Given the description of an element on the screen output the (x, y) to click on. 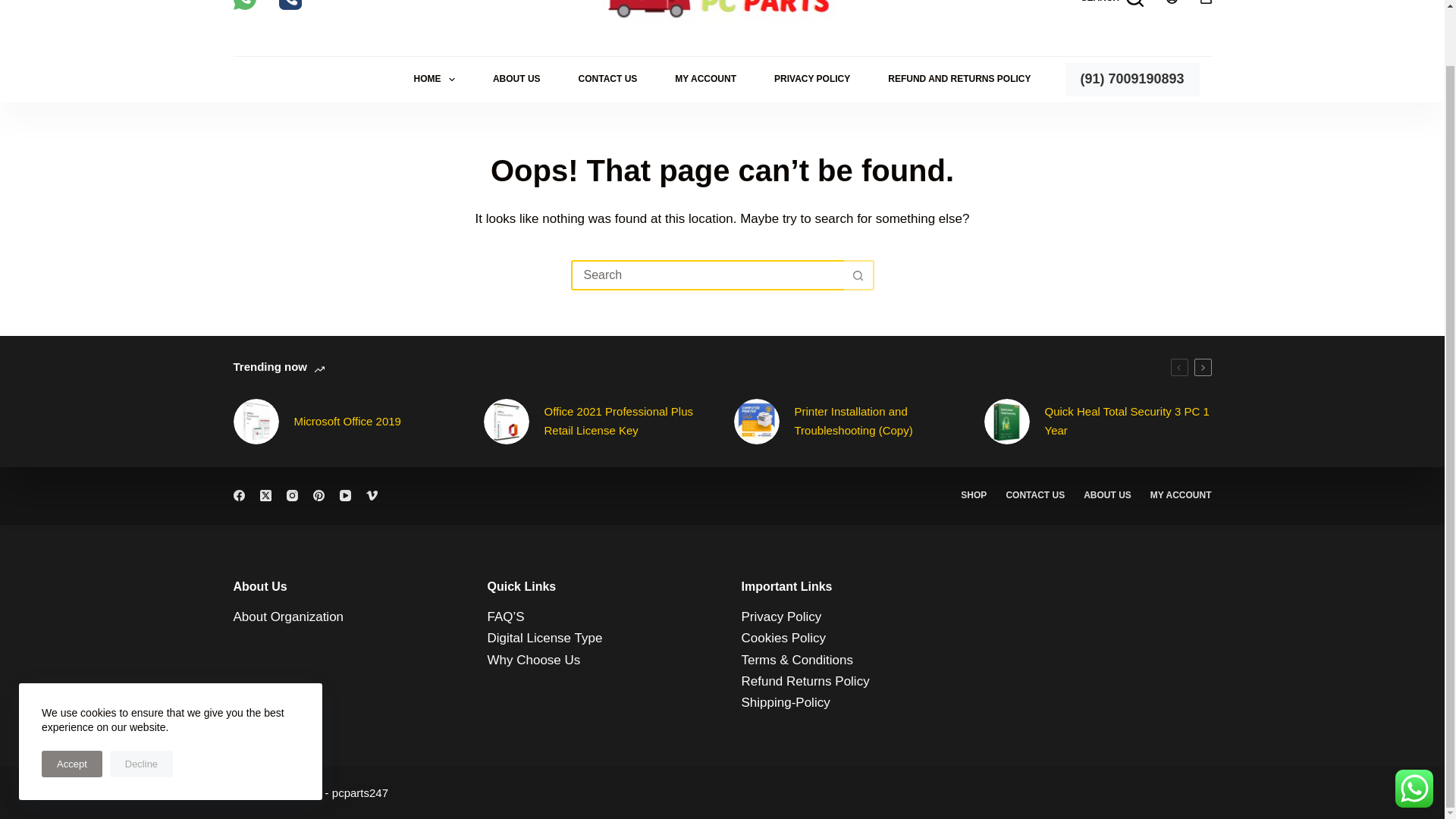
Shopping cart (1205, 2)
HOME (433, 79)
MY ACCOUNT (705, 79)
Office 2021 300x300 (506, 421)
TQ 300x300 (1006, 421)
Decline (141, 704)
Accept (71, 704)
ABOUT US (516, 79)
SEARCH (1111, 3)
CONTACT US (607, 79)
office 2019 300x300 (255, 421)
Search for... (706, 275)
PRIVACY POLICY (812, 79)
